Given the description of an element on the screen output the (x, y) to click on. 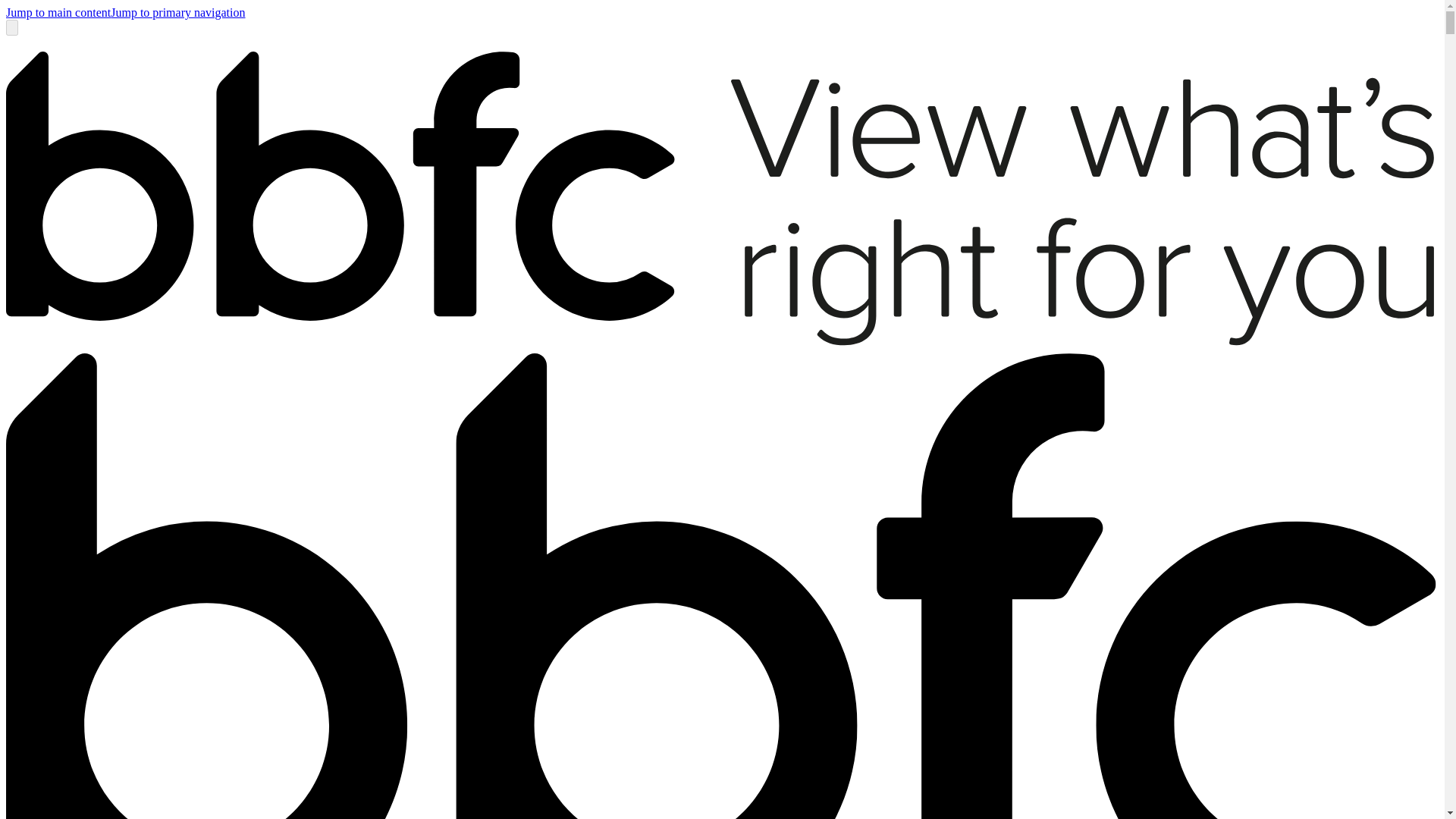
Jump to main content (57, 11)
Jump to primary navigation (177, 11)
